Given the description of an element on the screen output the (x, y) to click on. 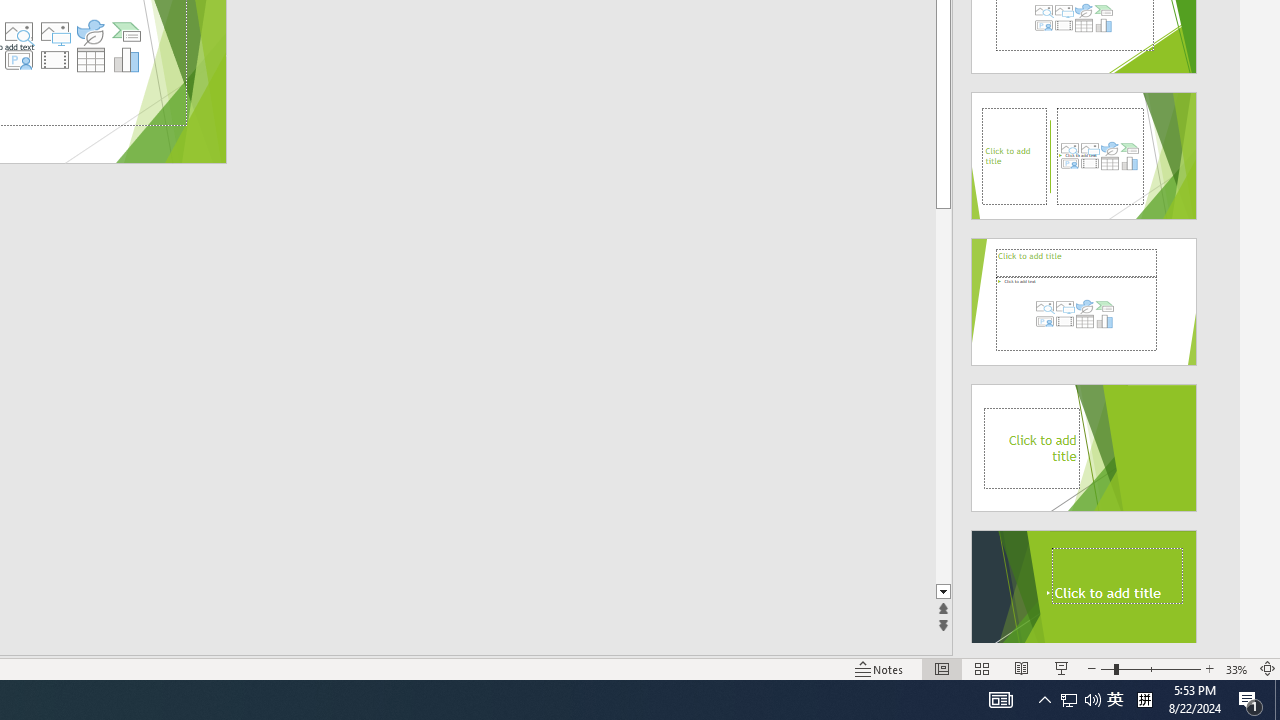
Design Idea (1083, 587)
Insert Cameo (18, 60)
Stock Images (18, 32)
Pictures (54, 32)
